Given the description of an element on the screen output the (x, y) to click on. 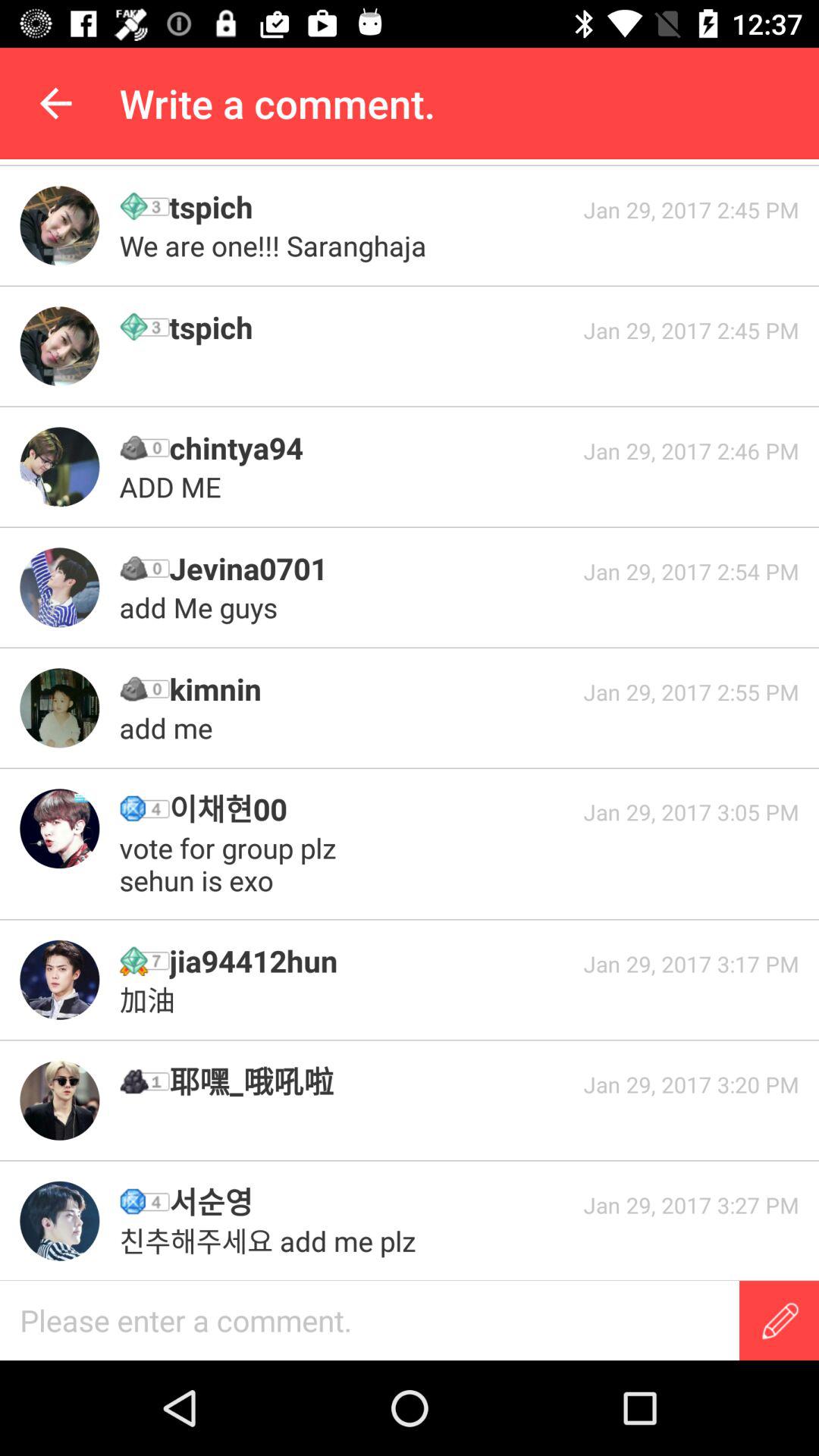
press icon to the left of jan 29 2017 icon (371, 808)
